Given the description of an element on the screen output the (x, y) to click on. 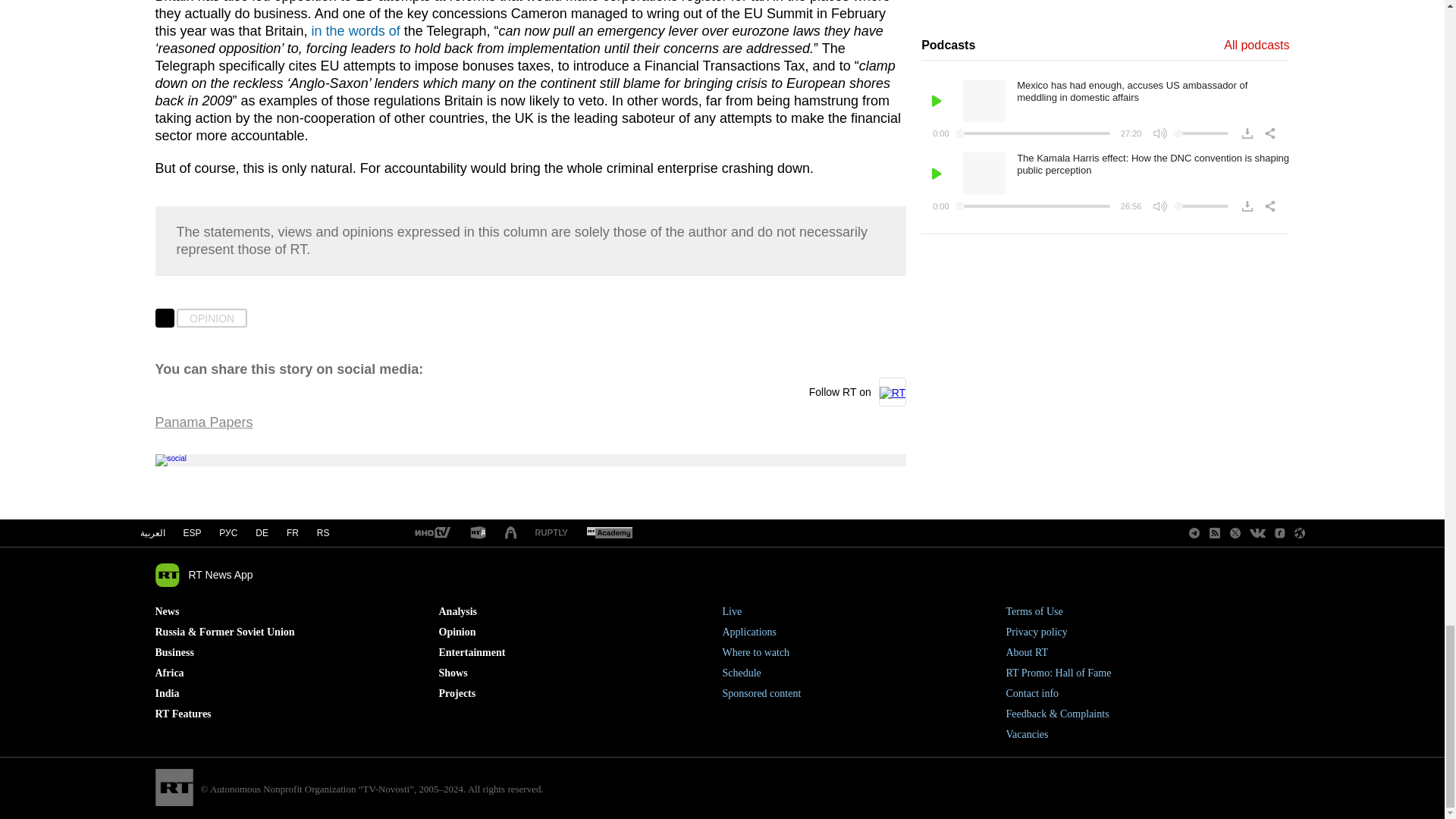
RT  (608, 533)
RT  (551, 533)
RT  (478, 533)
RT  (431, 533)
